Given the description of an element on the screen output the (x, y) to click on. 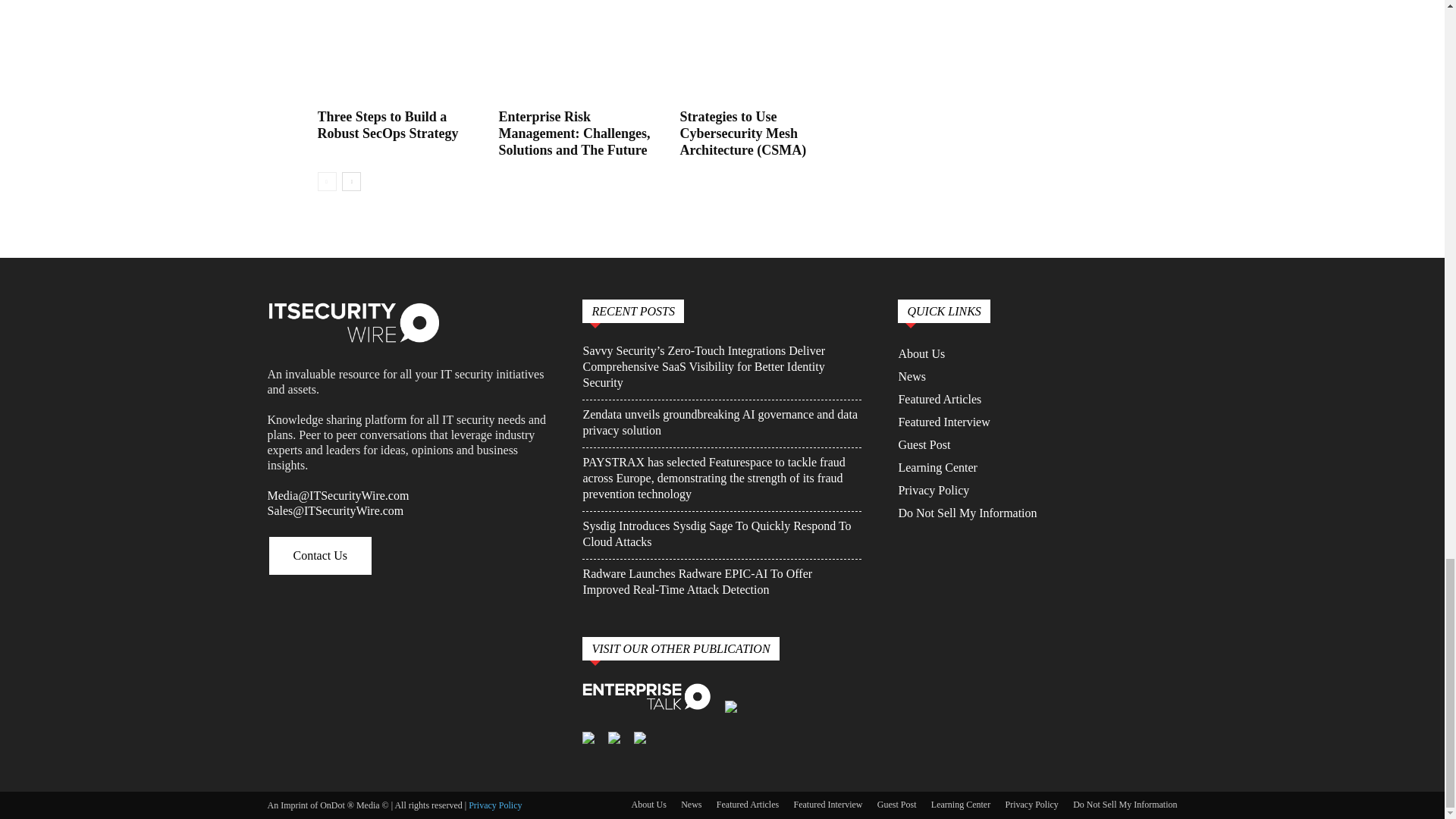
Three Steps to Build a Robust SecOps Strategy (399, 52)
Three Steps to Build a Robust SecOps Strategy (387, 124)
